Given the description of an element on the screen output the (x, y) to click on. 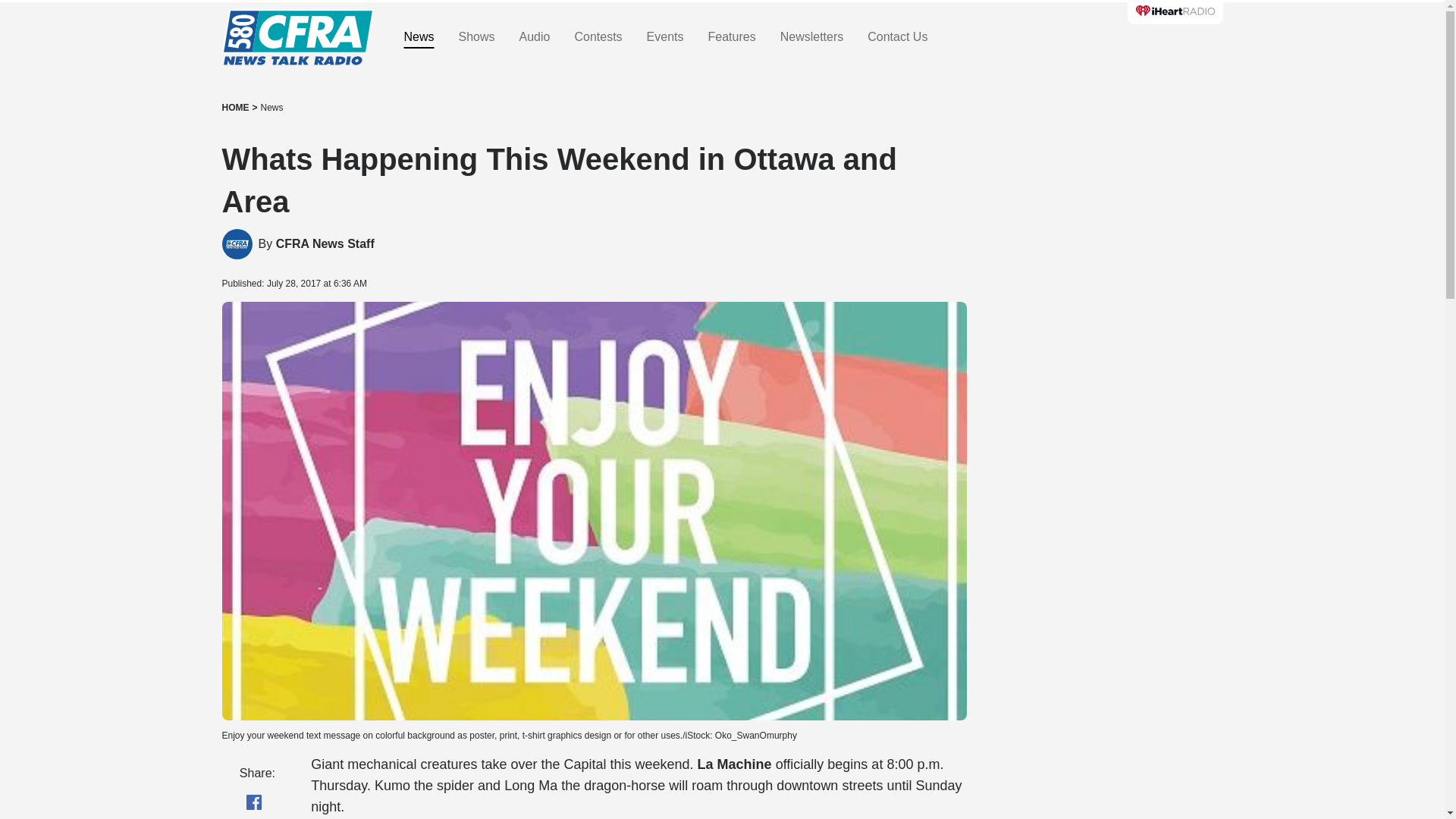
Contests (597, 37)
Features (731, 37)
CFRA News Staff (325, 243)
CFRA News Staff (325, 243)
HOME (234, 107)
Contact Us (897, 37)
Newsletters (812, 37)
News (271, 107)
CFRA News Staff (236, 244)
